Given the description of an element on the screen output the (x, y) to click on. 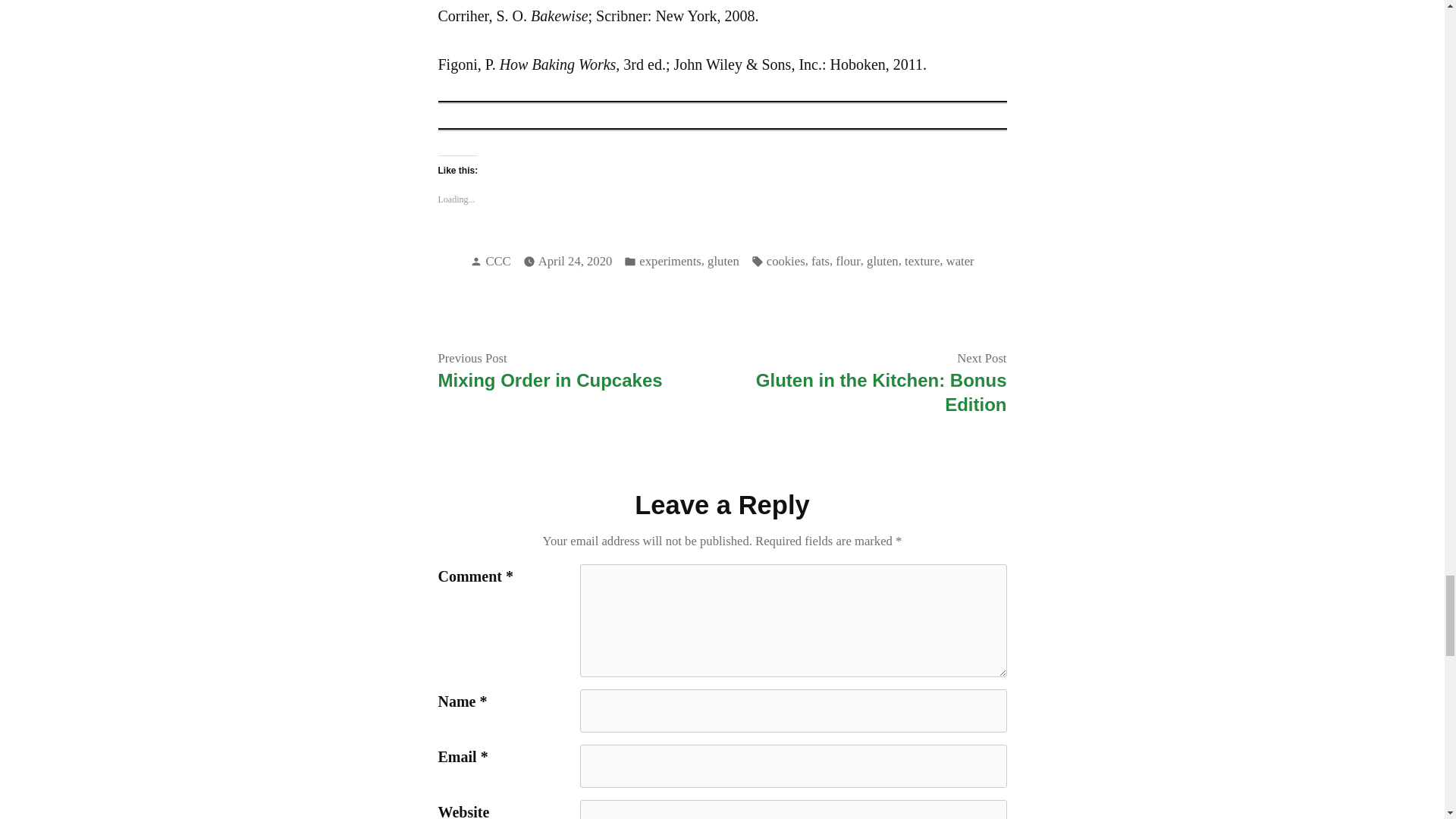
cookies (786, 261)
experiments (669, 261)
flour (847, 261)
gluten (882, 261)
CCC (497, 260)
gluten (723, 261)
fats (819, 261)
April 24, 2020 (575, 261)
